Given the description of an element on the screen output the (x, y) to click on. 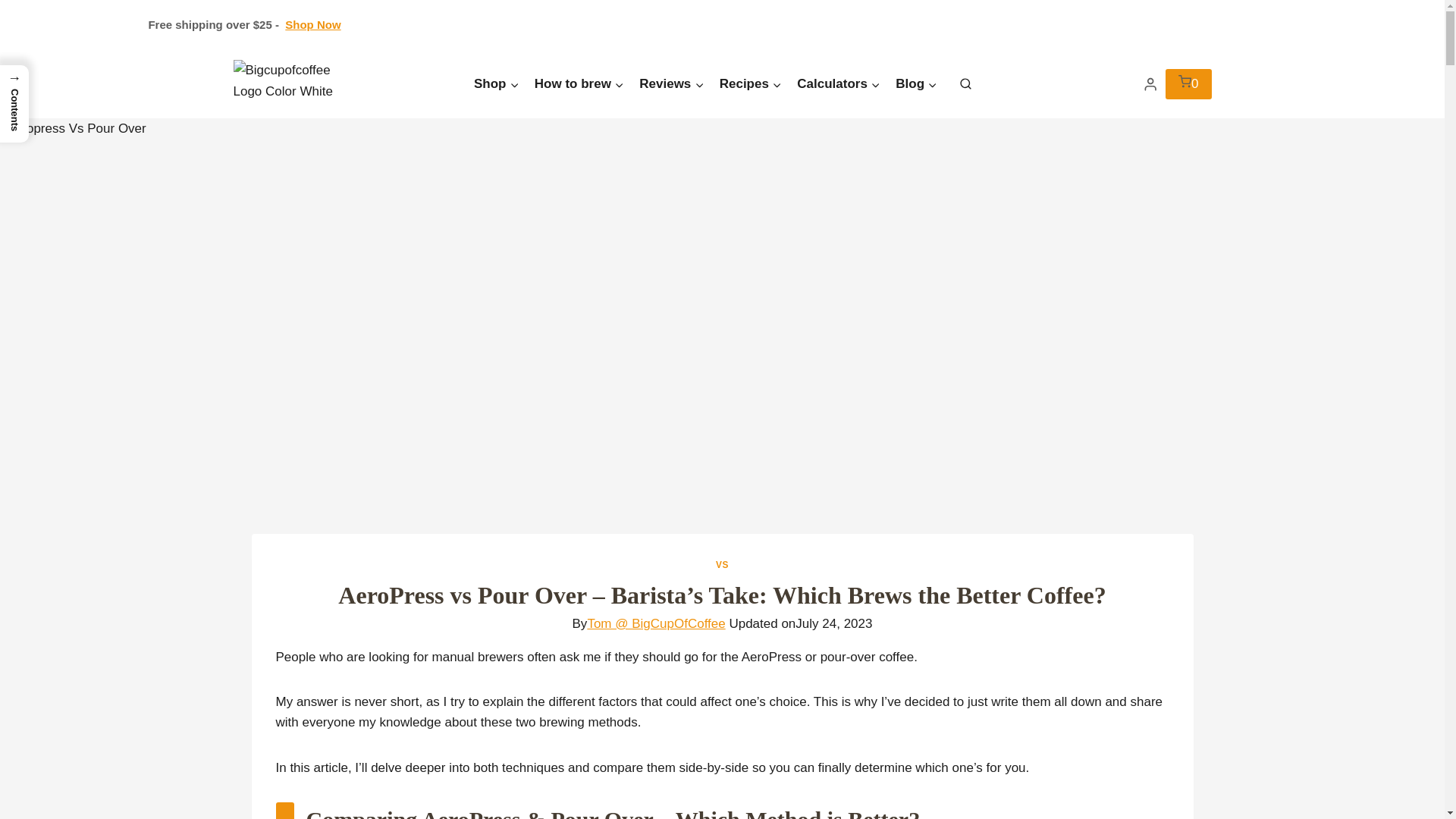
How to brew (579, 84)
Recipes (750, 84)
Reviews (671, 84)
Shop (496, 84)
Shop Now (312, 24)
